Given the description of an element on the screen output the (x, y) to click on. 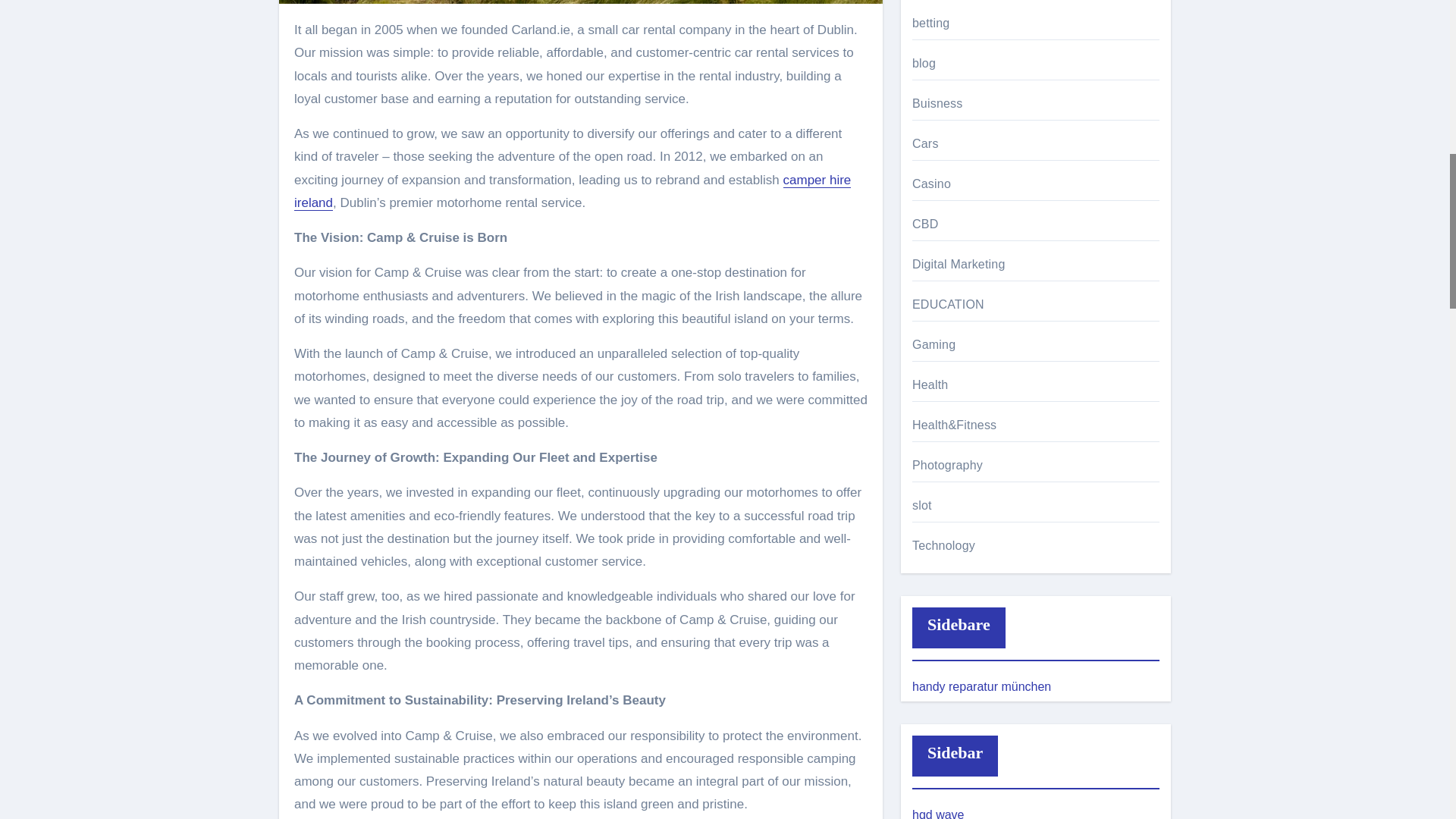
camper hire ireland (572, 190)
